Given the description of an element on the screen output the (x, y) to click on. 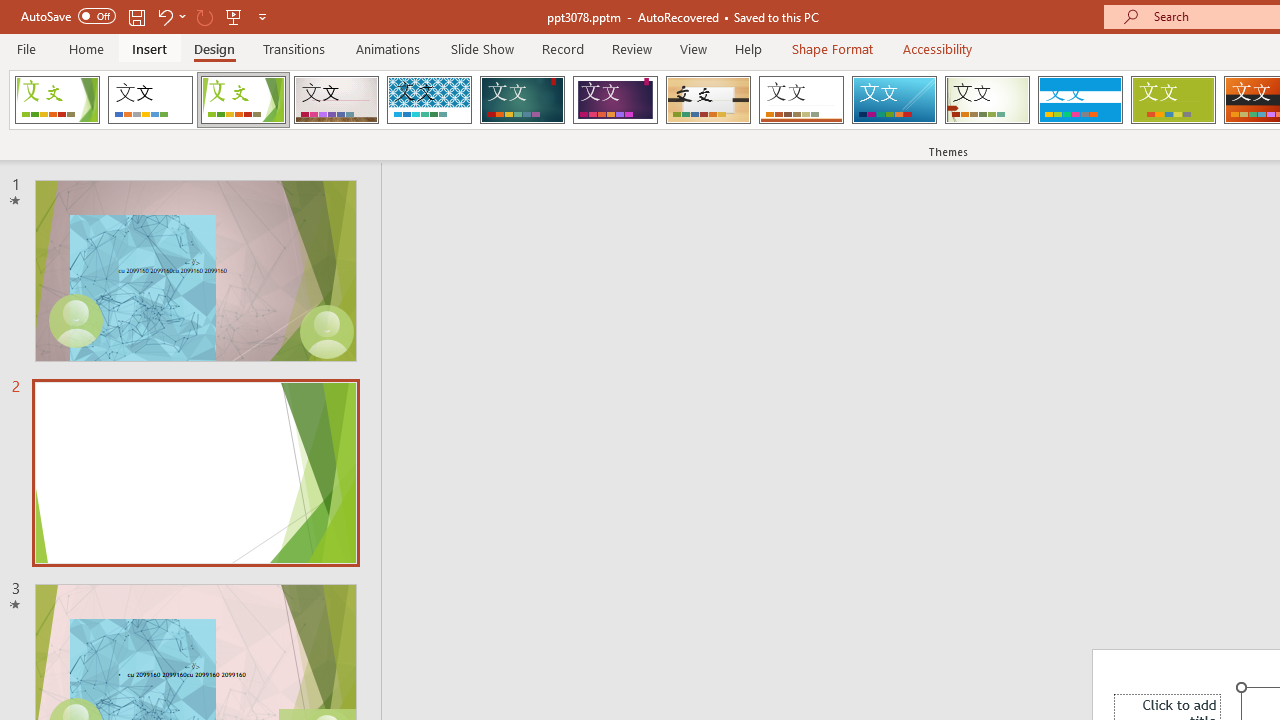
Office Theme (150, 100)
Ion (522, 100)
Integral (429, 100)
Ion Boardroom (615, 100)
Slice (893, 100)
